Given the description of an element on the screen output the (x, y) to click on. 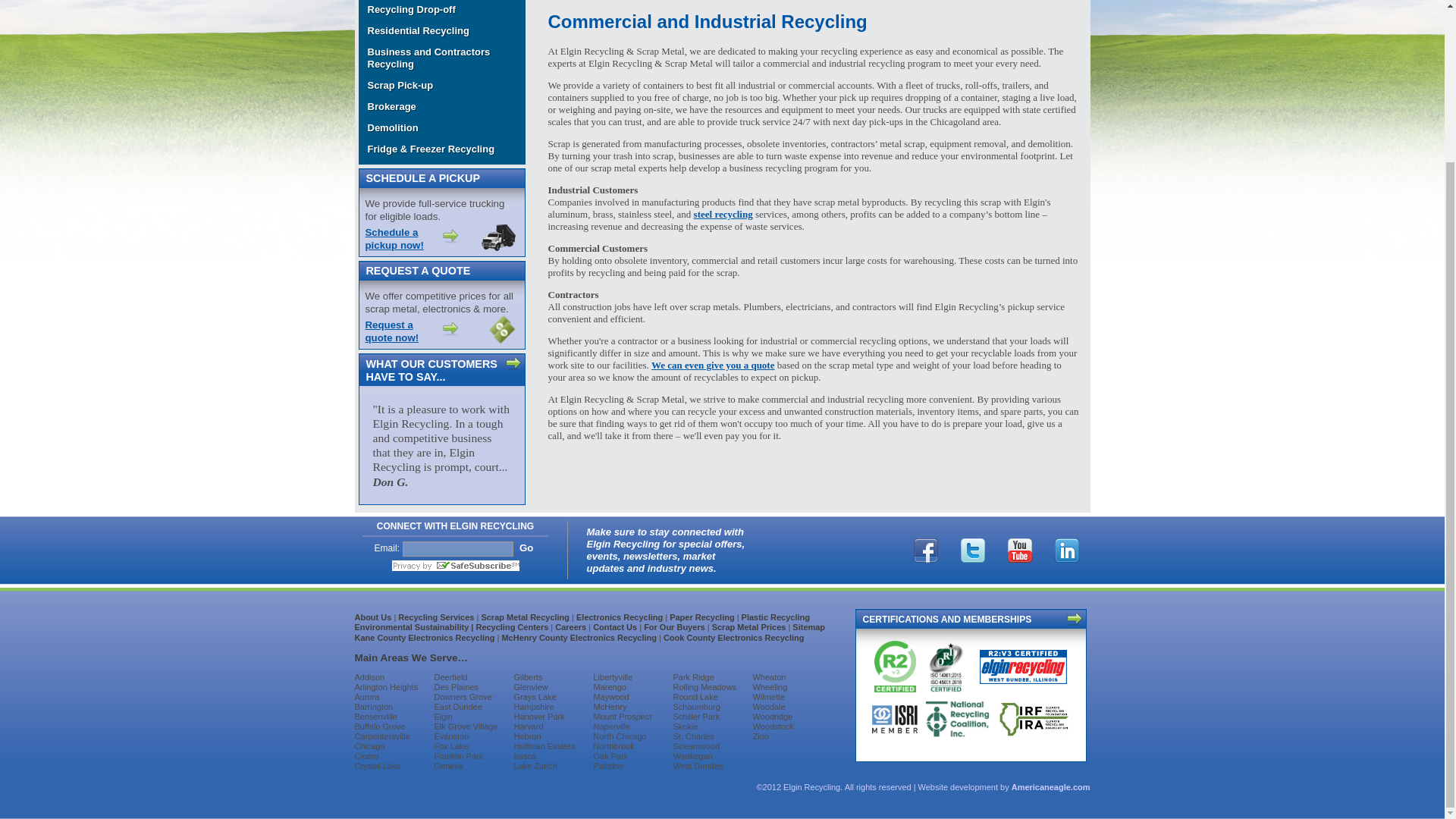
Americaneagle.com (1050, 786)
Like us on Facebook (925, 549)
Profile us on LinkedIn (1066, 549)
Watch us on YouTube (1019, 549)
Follow us on Twitter (972, 549)
